Given the description of an element on the screen output the (x, y) to click on. 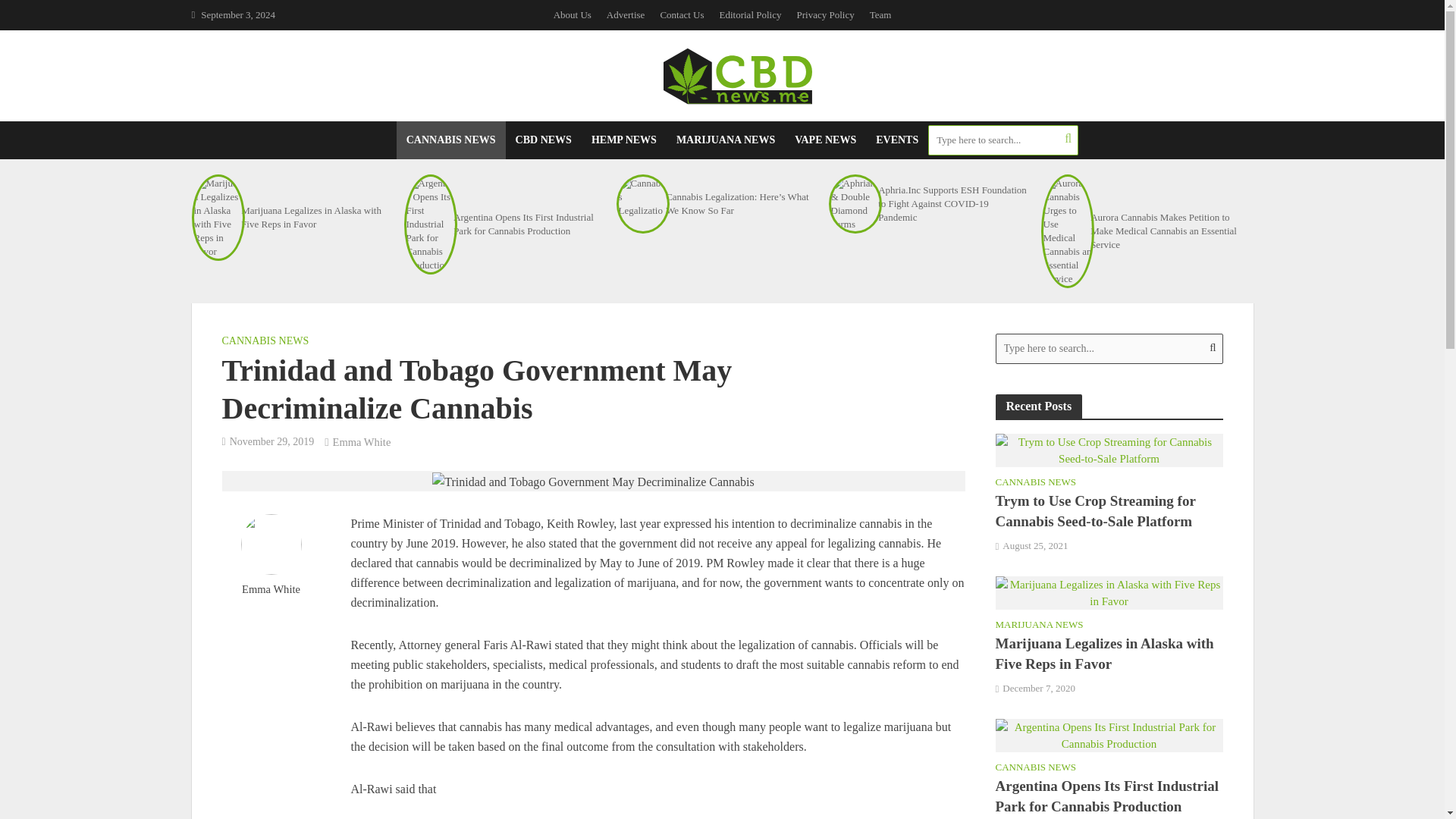
Contact Us (681, 15)
CBD NEWS (542, 139)
MARIJUANA NEWS (725, 139)
EVENTS (897, 139)
Marijuana Legalizes in Alaska with Five Reps in Favor (1108, 592)
Team (880, 15)
